Given the description of an element on the screen output the (x, y) to click on. 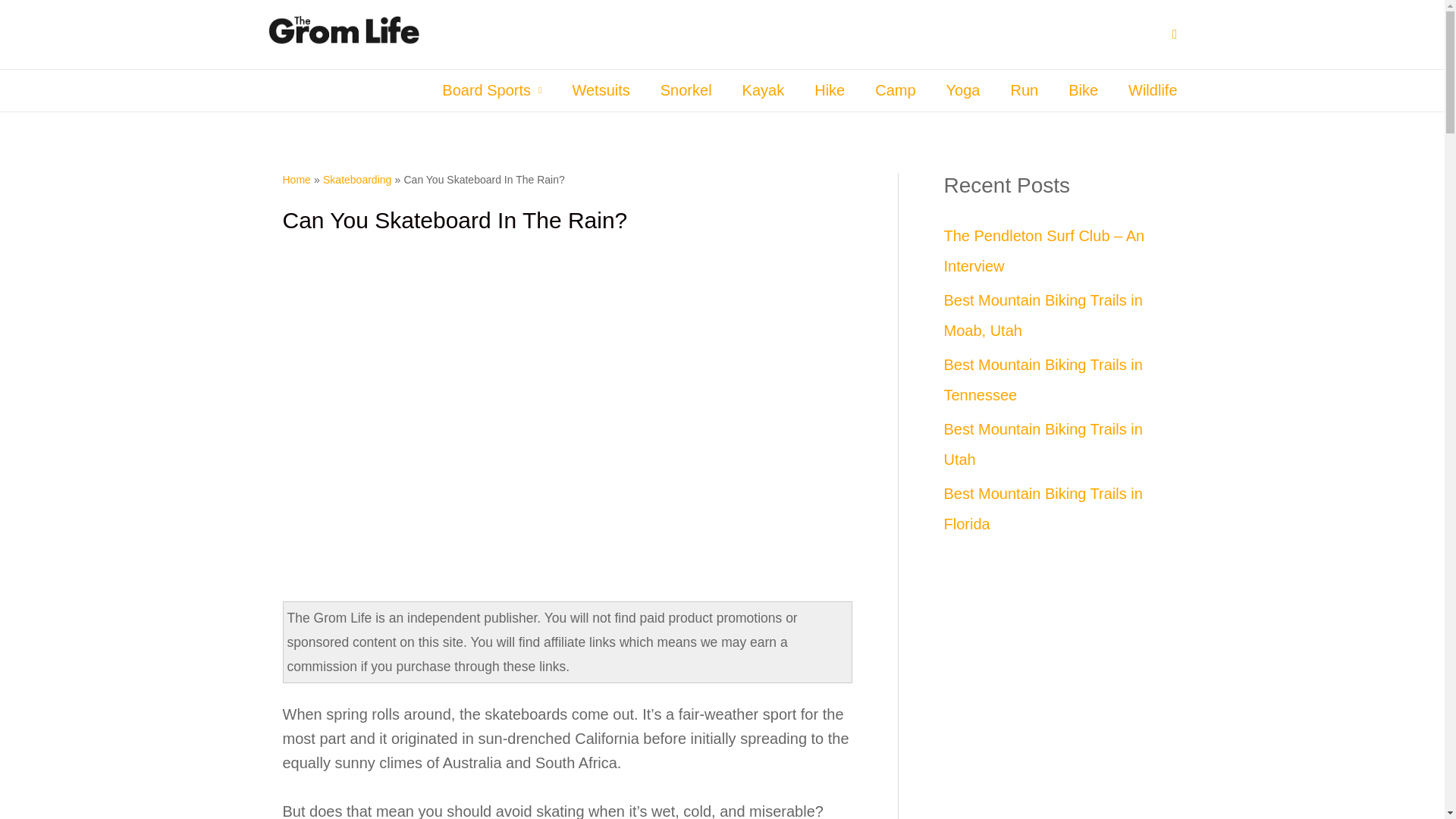
Run (1023, 90)
Board Sports (491, 90)
Snorkel (685, 90)
Wetsuits (600, 90)
Wildlife (1144, 90)
Yoga (963, 90)
Kayak (762, 90)
Home (296, 179)
Bike (1082, 90)
Camp (895, 90)
